Given the description of an element on the screen output the (x, y) to click on. 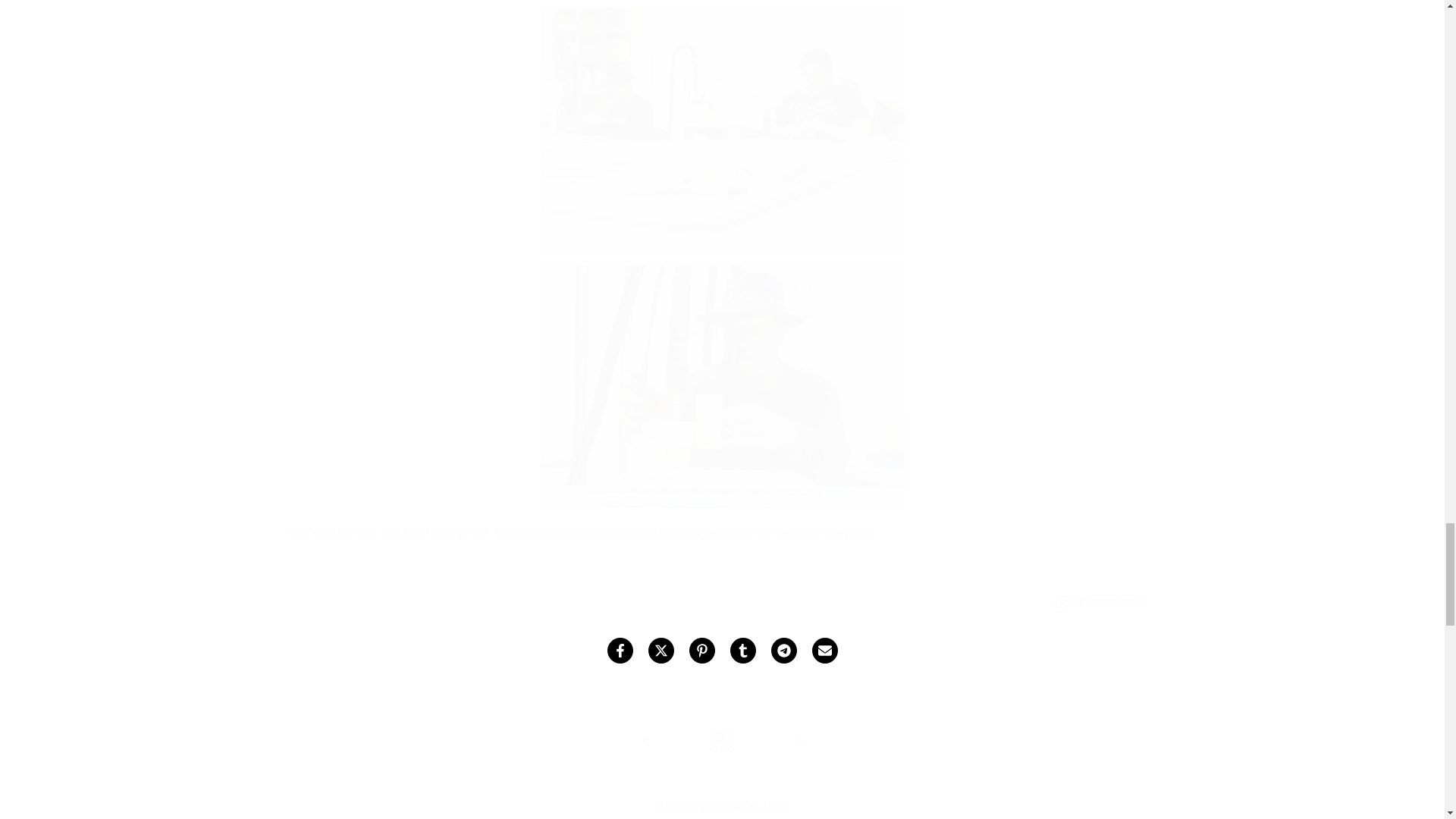
Share on Pinterest (701, 650)
Share on Tumblr (742, 650)
Share on Telegram (783, 650)
Get To Know Us! Part II (797, 741)
Share on Twitter (659, 650)
Share on Email (823, 650)
Back to Butter Blog (722, 741)
Share on Facebook (619, 650)
